Given the description of an element on the screen output the (x, y) to click on. 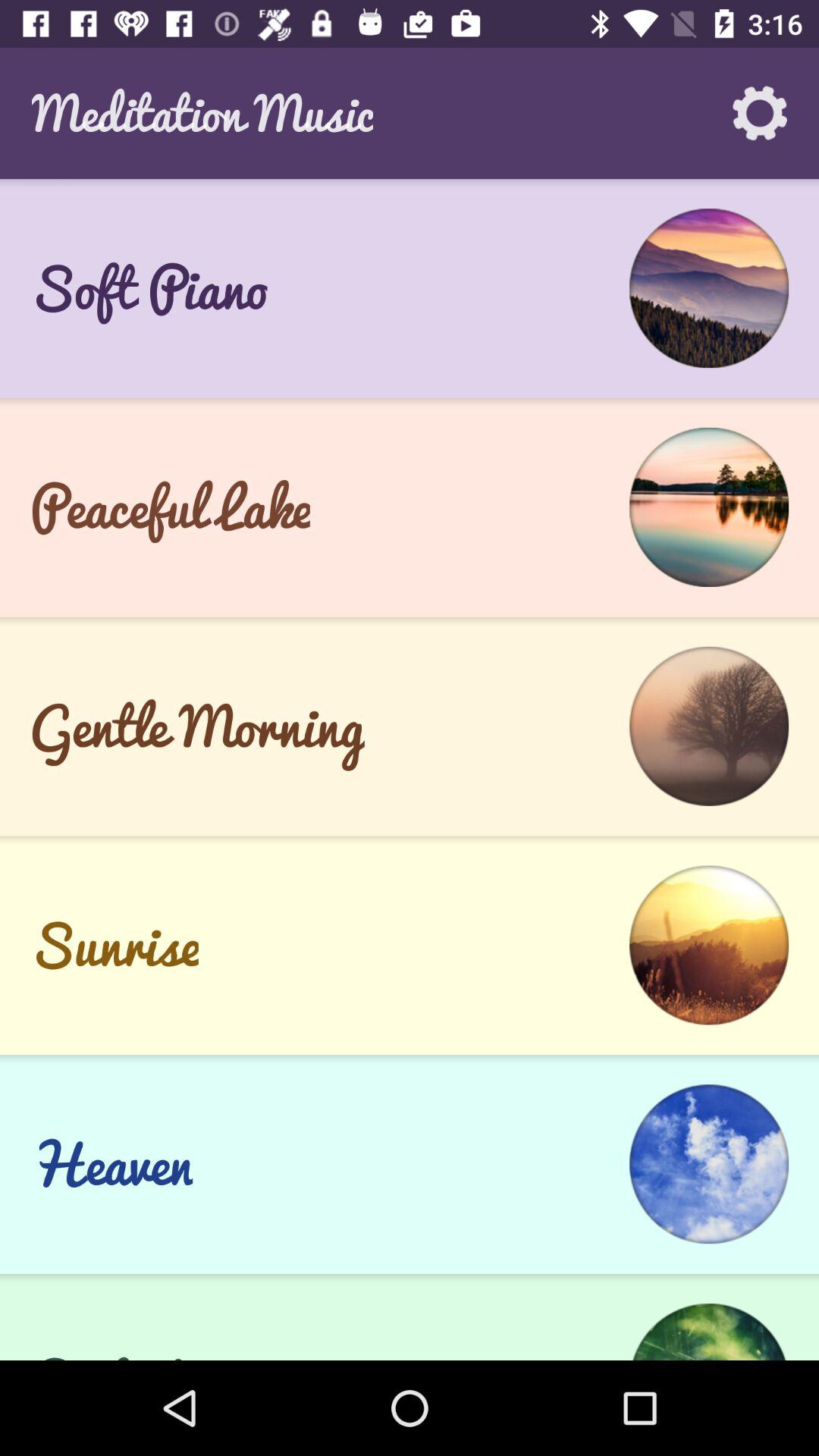
scroll to sunrise icon (114, 945)
